Given the description of an element on the screen output the (x, y) to click on. 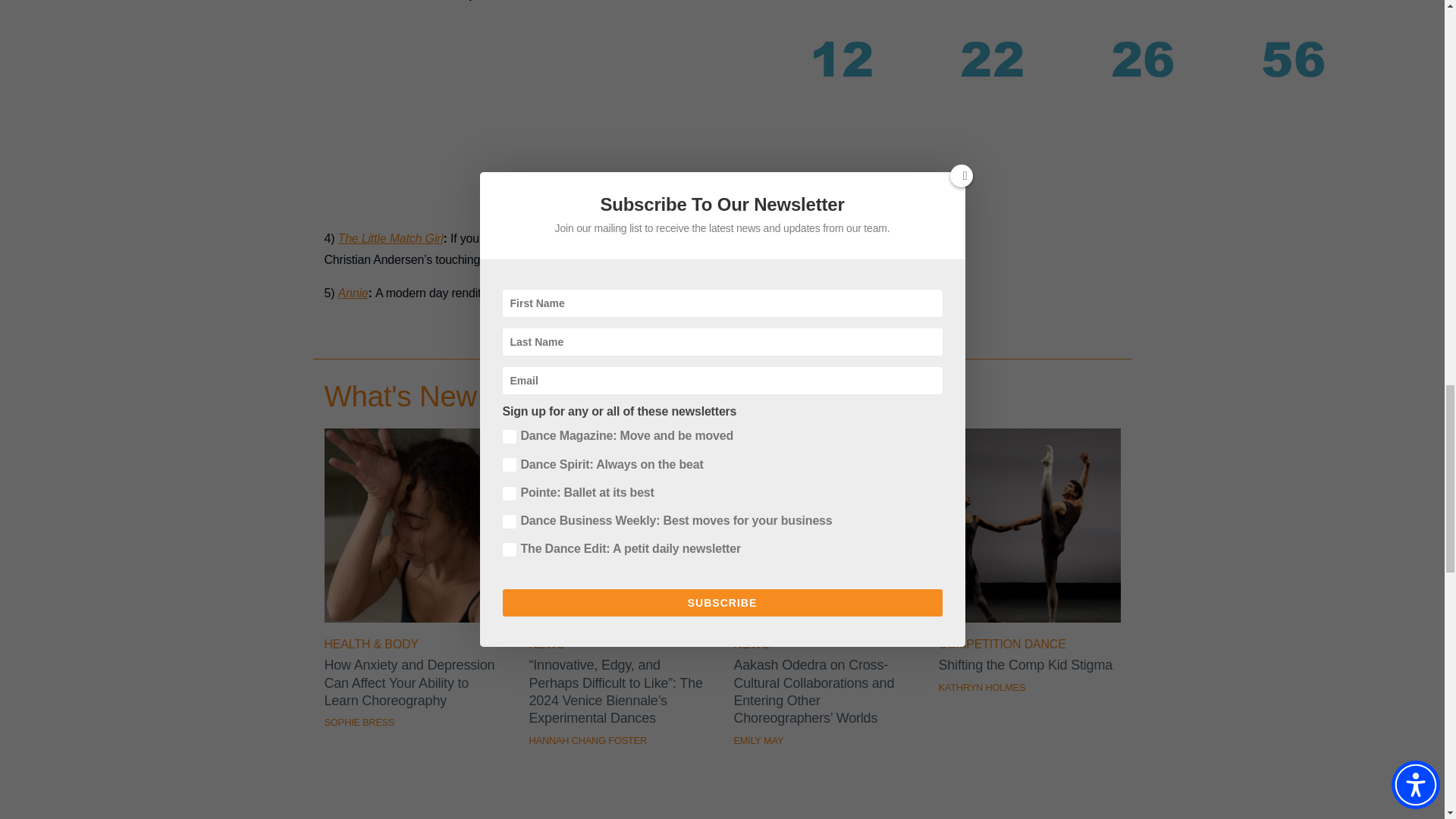
3rd party ad content (602, 114)
Shifting the Comp Kid Stigma (1030, 617)
